Given the description of an element on the screen output the (x, y) to click on. 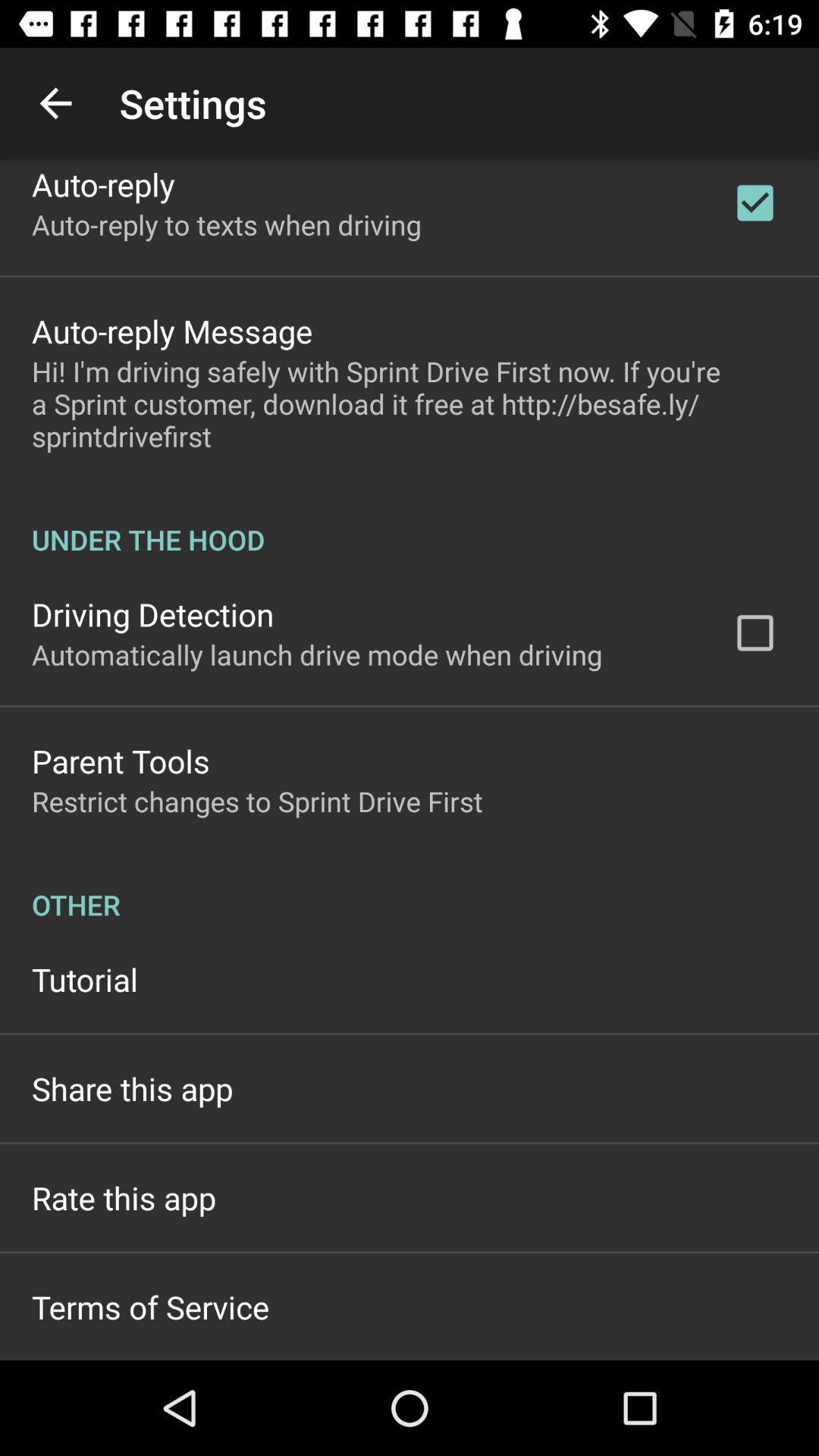
turn on the item below the under the hood (152, 613)
